Given the description of an element on the screen output the (x, y) to click on. 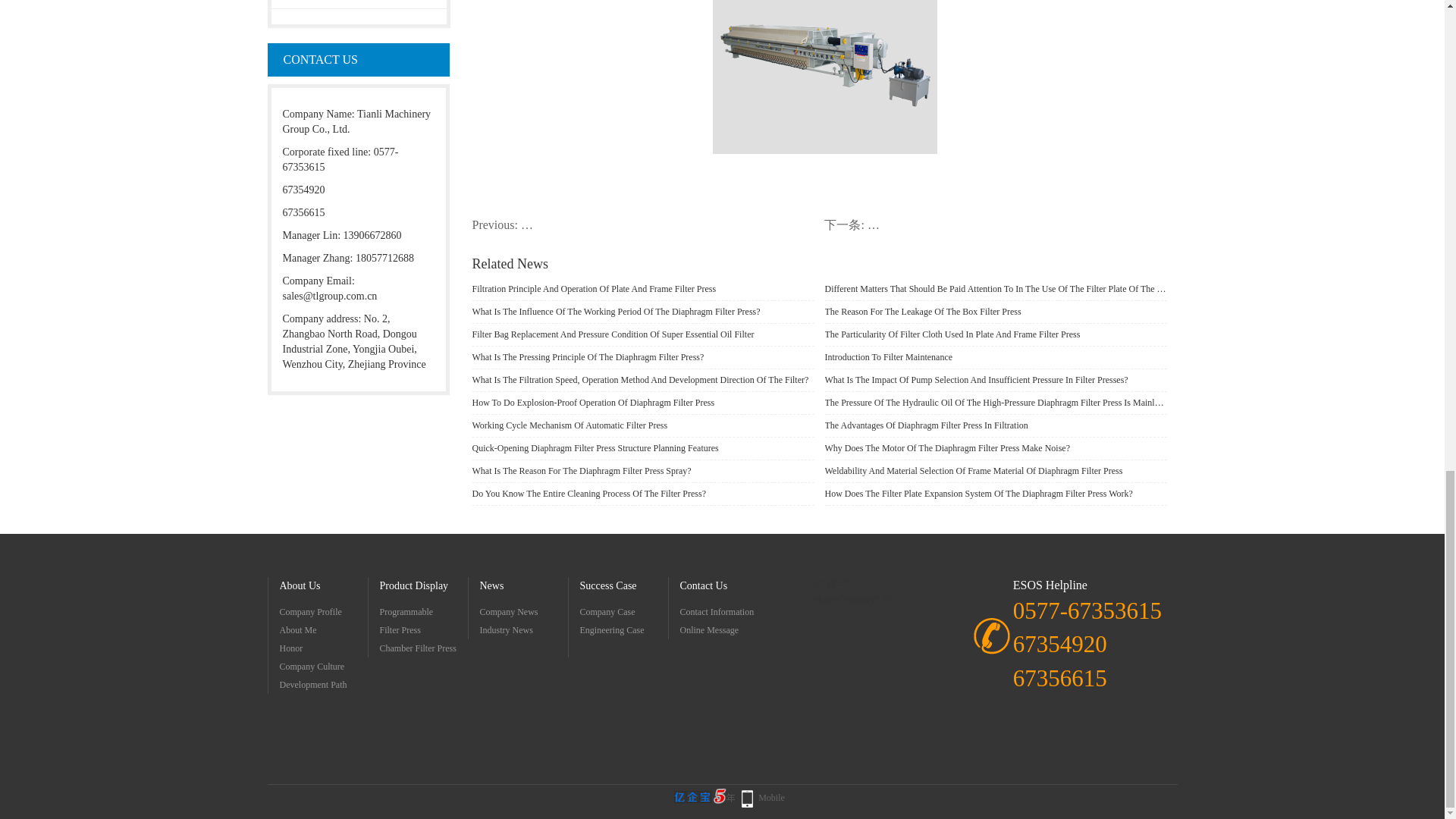
Stainless Steel Diatomite Filter (358, 4)
